Given the description of an element on the screen output the (x, y) to click on. 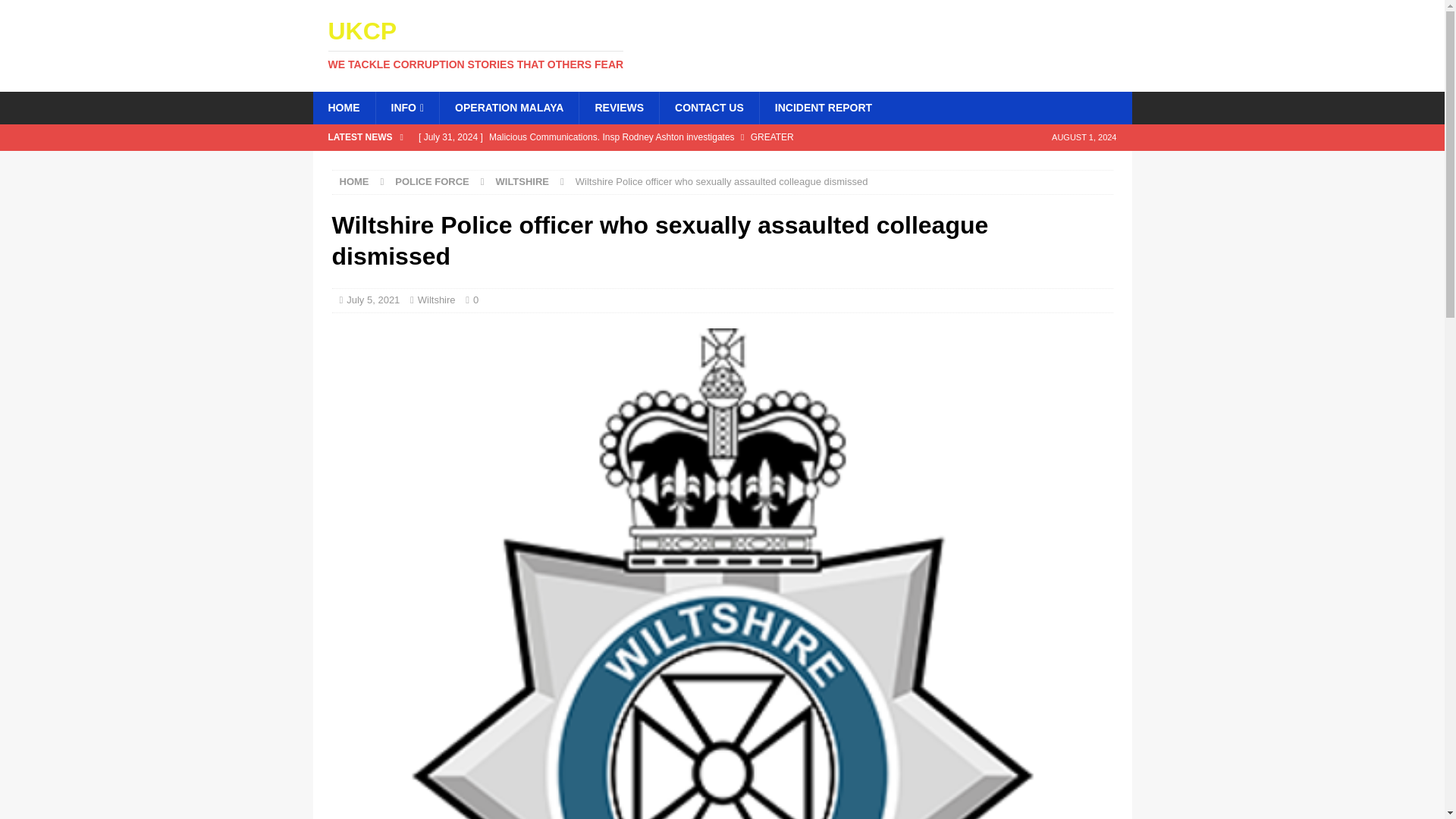
HOME (343, 107)
CONTACT US (708, 107)
INFO (406, 107)
OPERATION MALAYA (721, 44)
INCIDENT REPORT (508, 107)
UKCP (822, 107)
REVIEWS (721, 44)
Malicious Communications. Insp Rodney Ashton investigates (618, 107)
